Given the description of an element on the screen output the (x, y) to click on. 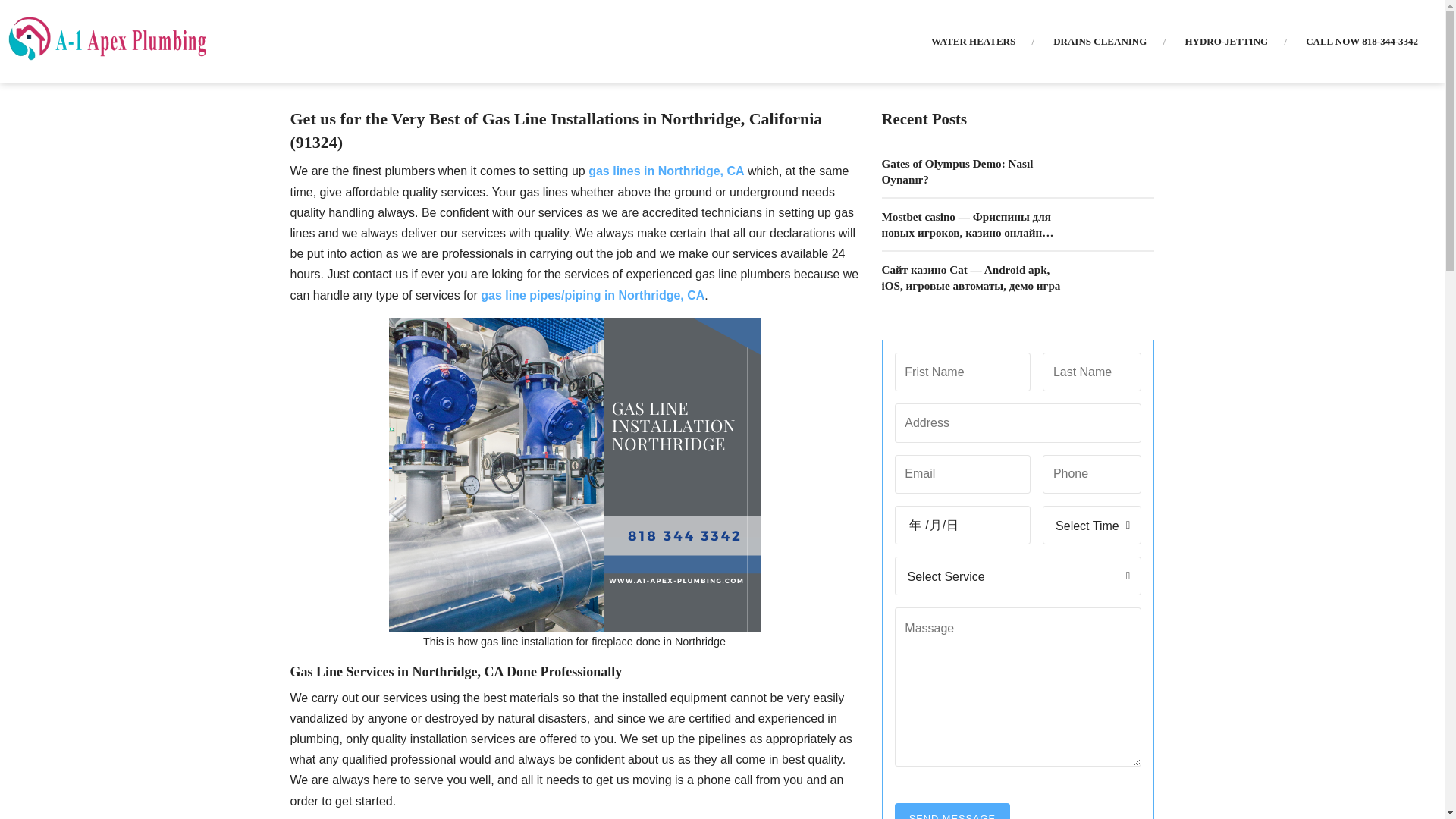
DRAINS CLEANING (1099, 41)
CALL NOW 818-344-3342 (1362, 41)
SEND MESSAGE (952, 811)
WATER HEATERS (972, 41)
HYDRO-JETTING (1226, 41)
SEND MESSAGE (952, 811)
gas lines in Northridge, CA (666, 170)
